Given the description of an element on the screen output the (x, y) to click on. 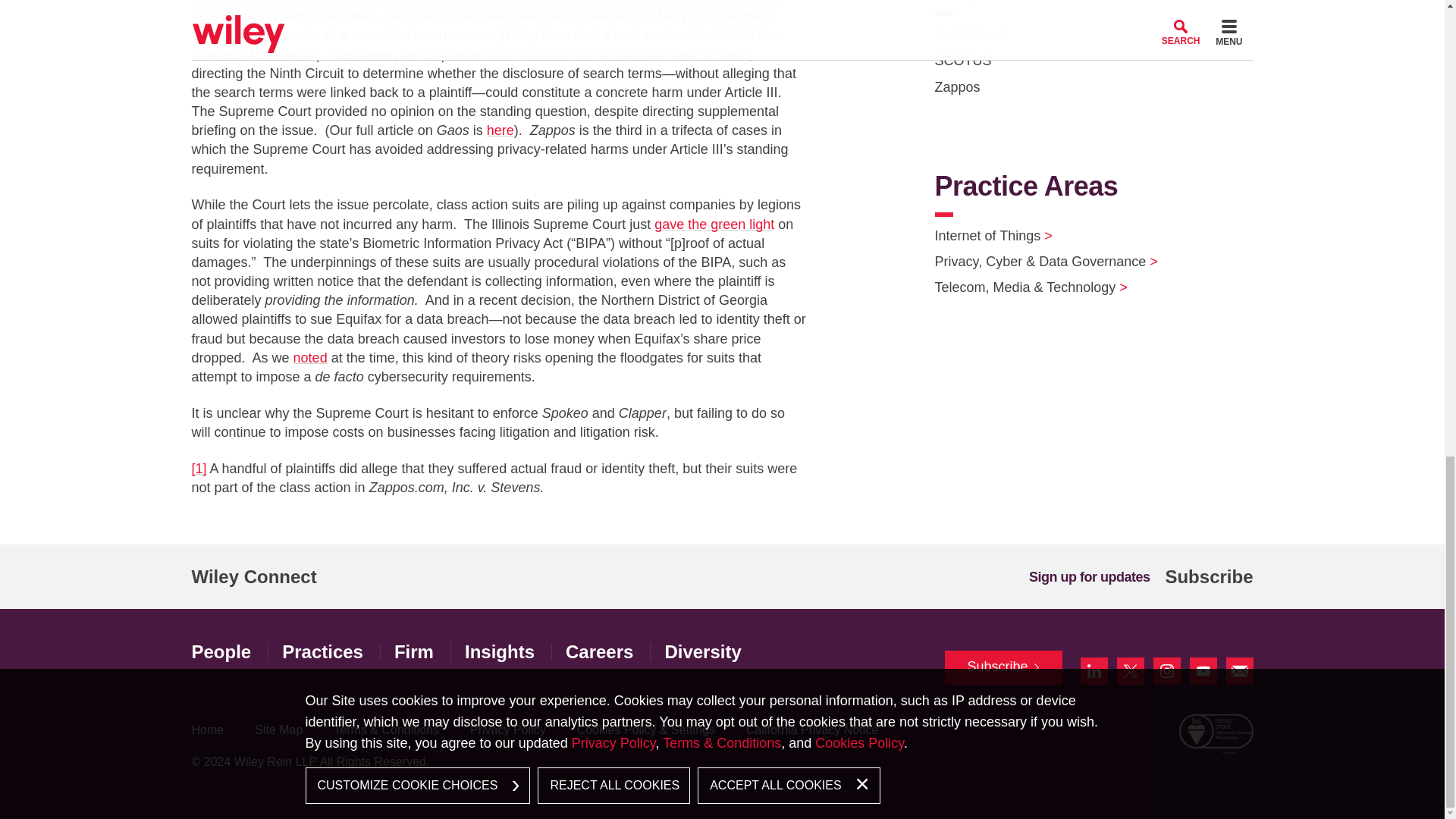
Contact Us (1238, 670)
